Given the description of an element on the screen output the (x, y) to click on. 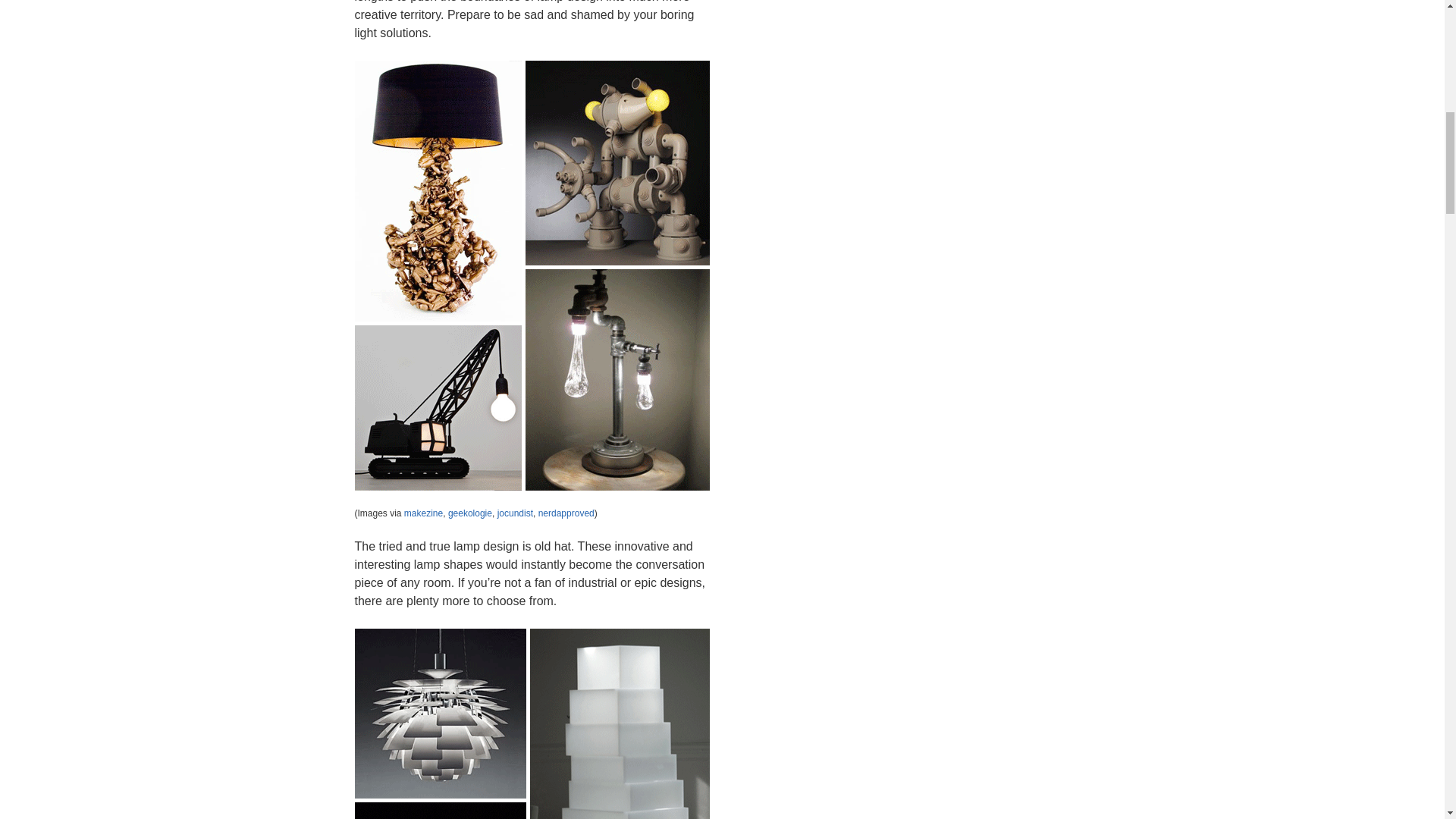
geekologie (470, 512)
jocundist (514, 512)
nerdapproved (566, 512)
makezine (423, 512)
